Given the description of an element on the screen output the (x, y) to click on. 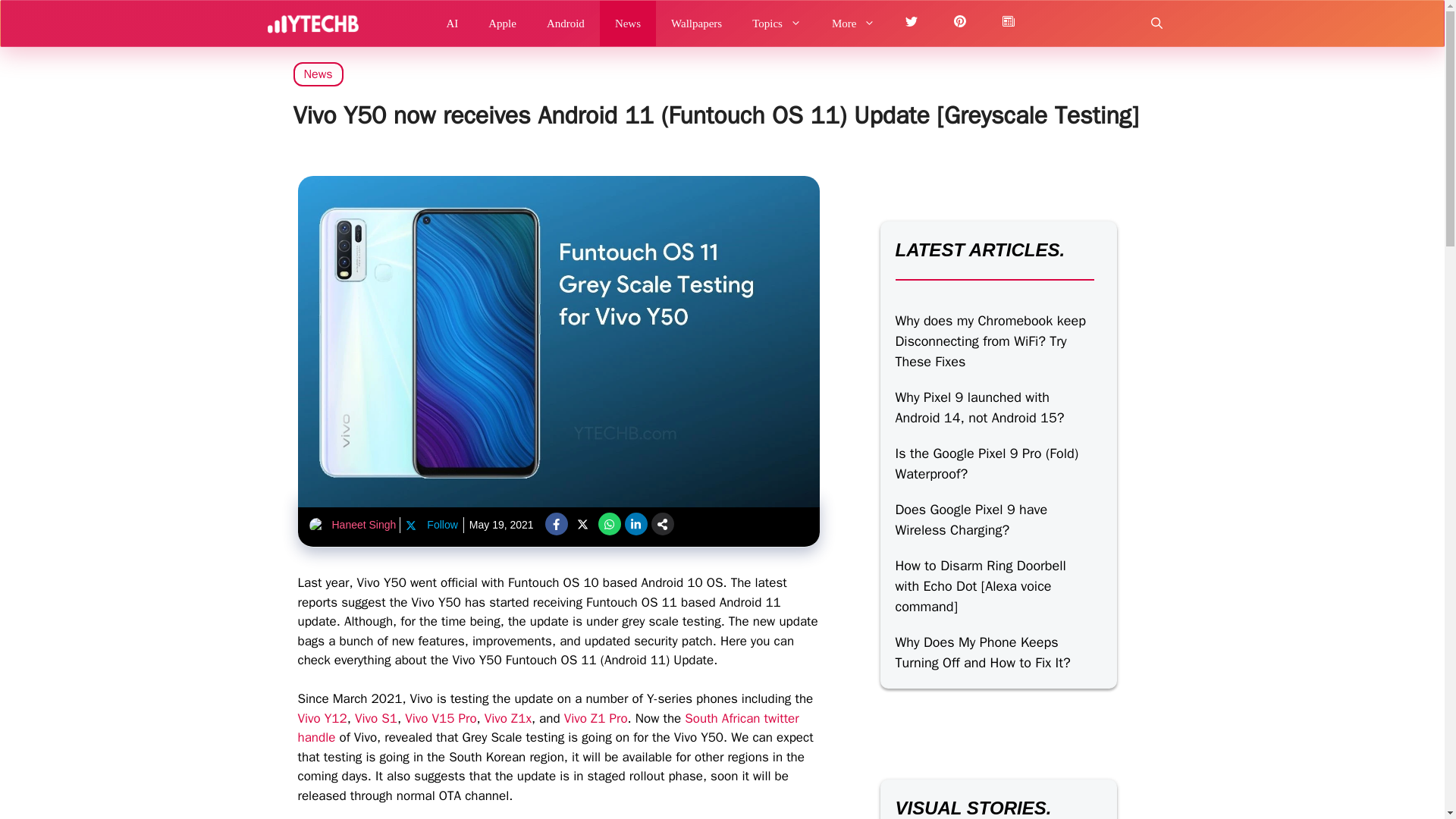
News (316, 73)
YTECHB (312, 22)
Wallpapers (696, 22)
AI (451, 22)
Topics (776, 22)
Apple (502, 22)
Android (565, 22)
Follow (430, 524)
Haneet Singh (363, 524)
News (627, 22)
